Given the description of an element on the screen output the (x, y) to click on. 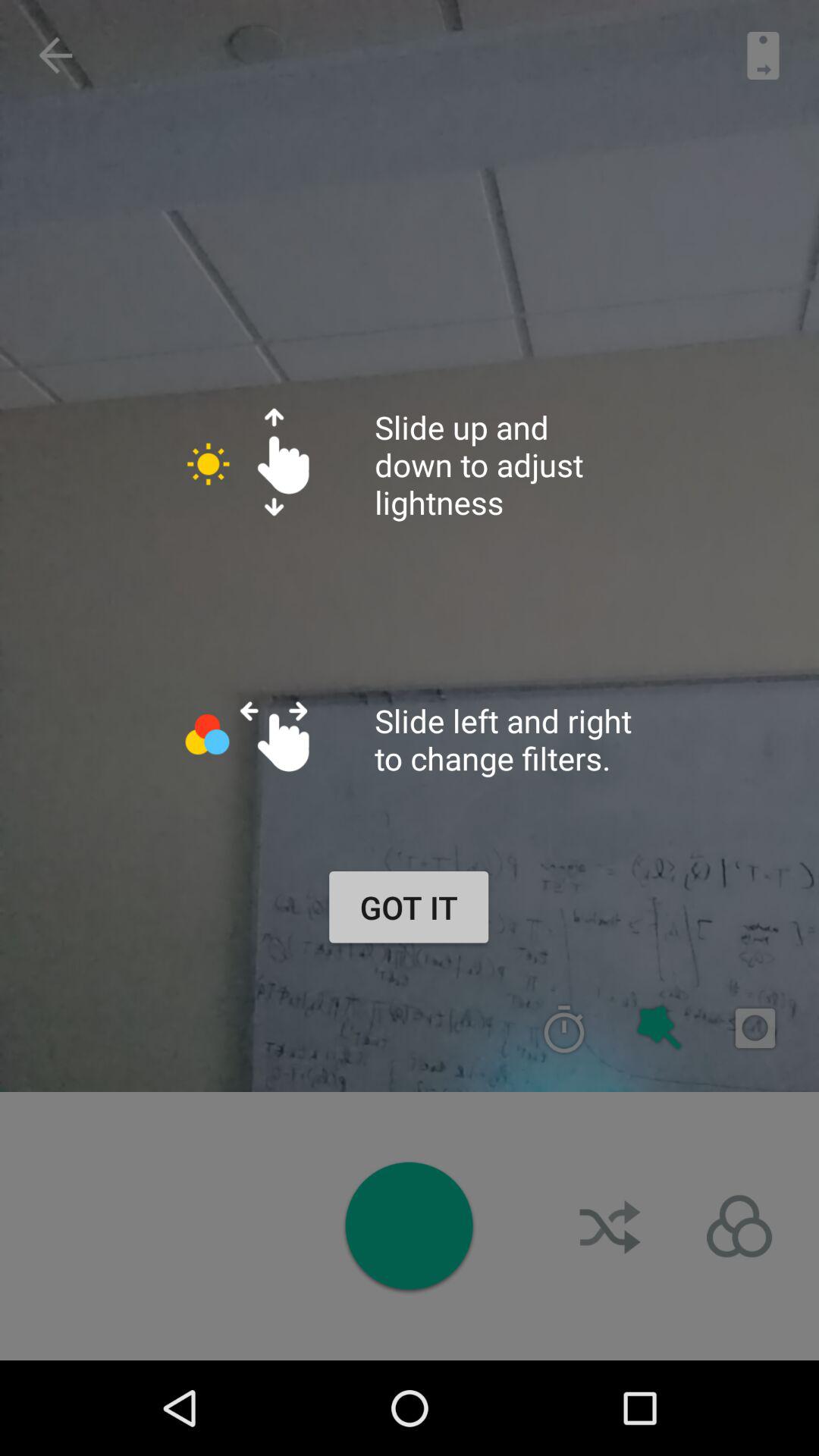
enter text (755, 1028)
